Given the description of an element on the screen output the (x, y) to click on. 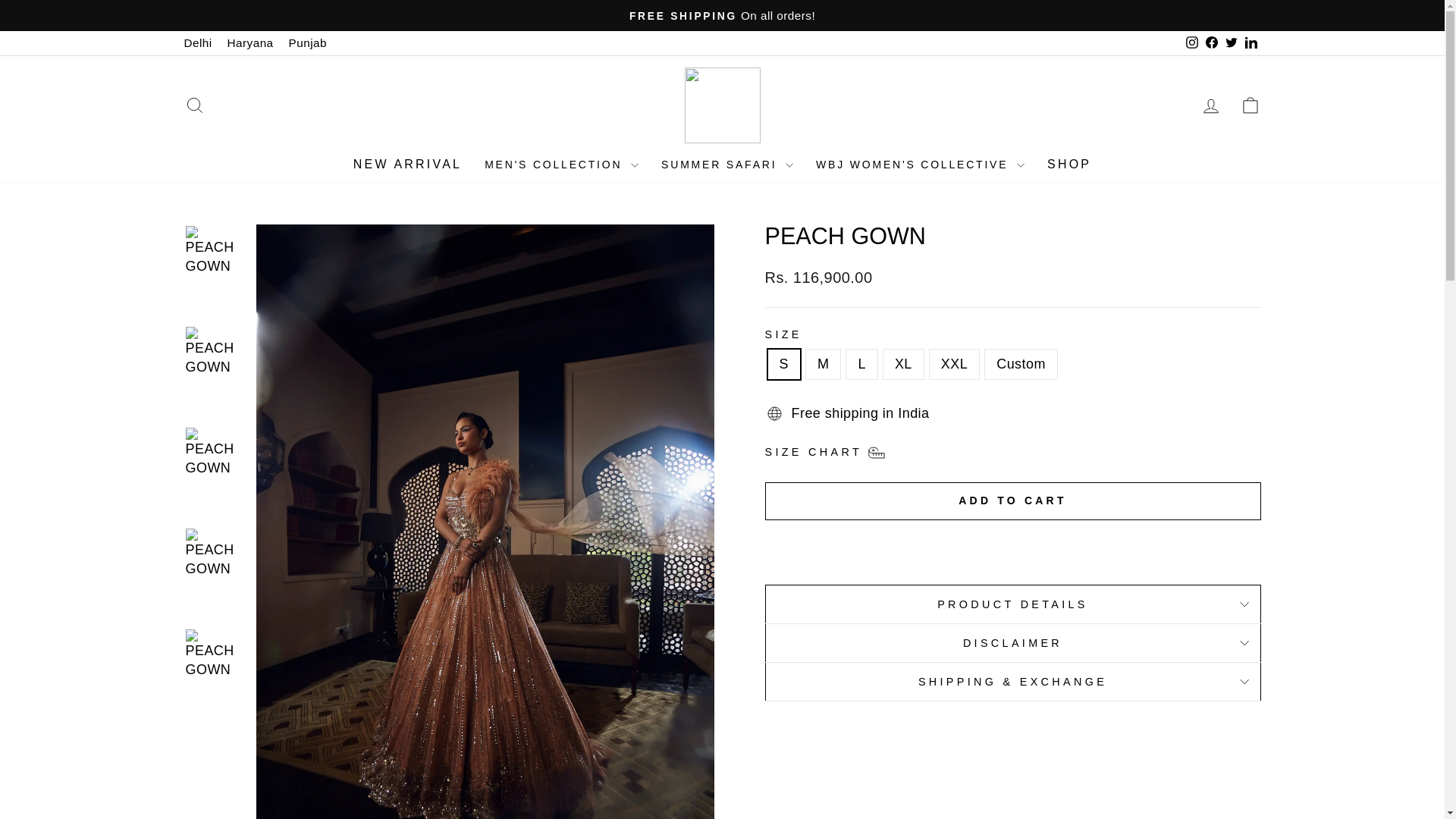
twitter (1231, 42)
ICON-SEARCH (194, 105)
instagram (1192, 42)
ICON-BAG-MINIMAL (1249, 105)
